Given the description of an element on the screen output the (x, y) to click on. 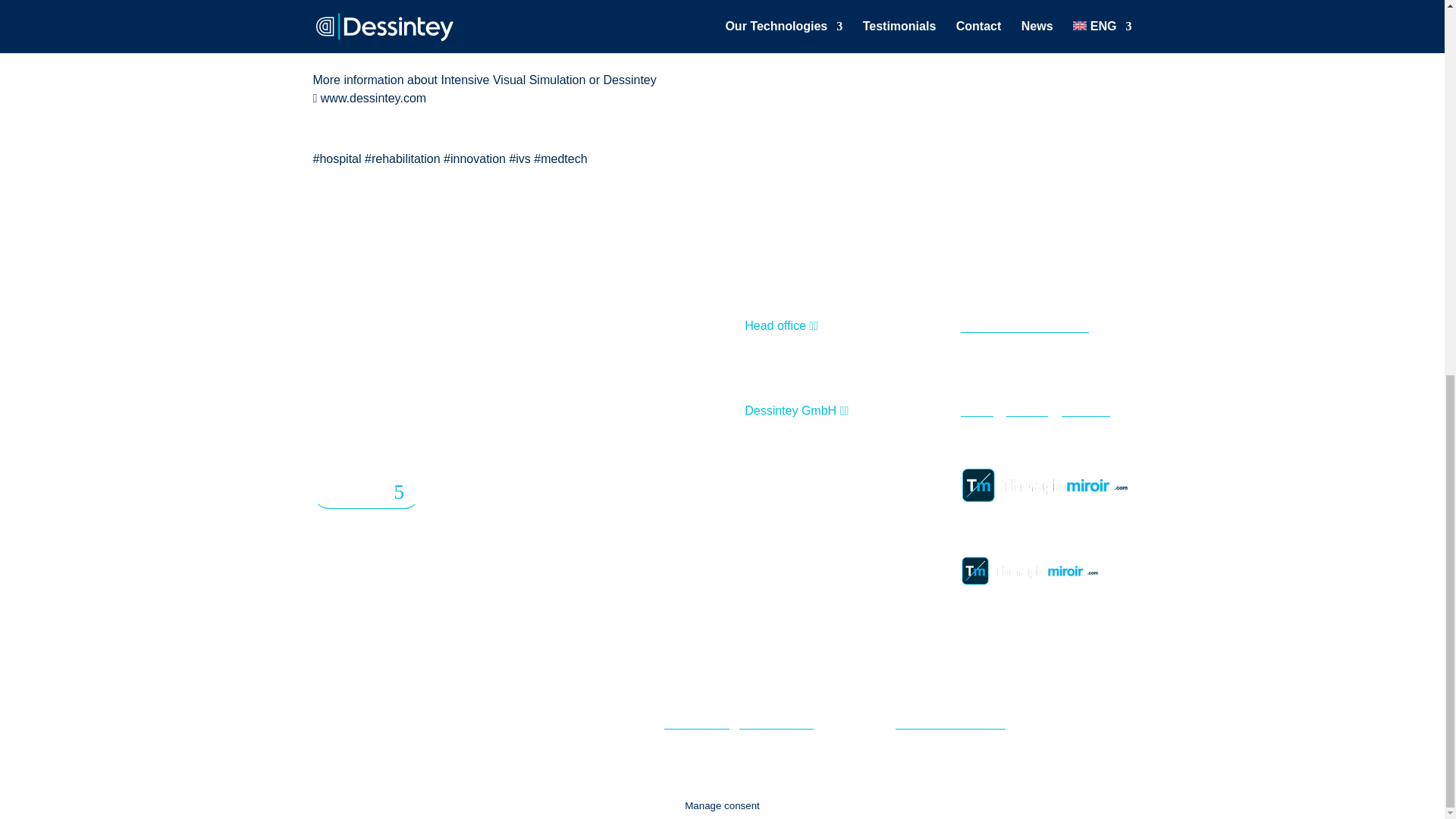
twitter (976, 409)
Legal notice (696, 722)
facebook (1085, 409)
www.dessintey.com (373, 97)
Privacy policy (776, 722)
Pro access (366, 492)
laurentholdrinet.com (950, 722)
linkedin (1026, 409)
